Given the description of an element on the screen output the (x, y) to click on. 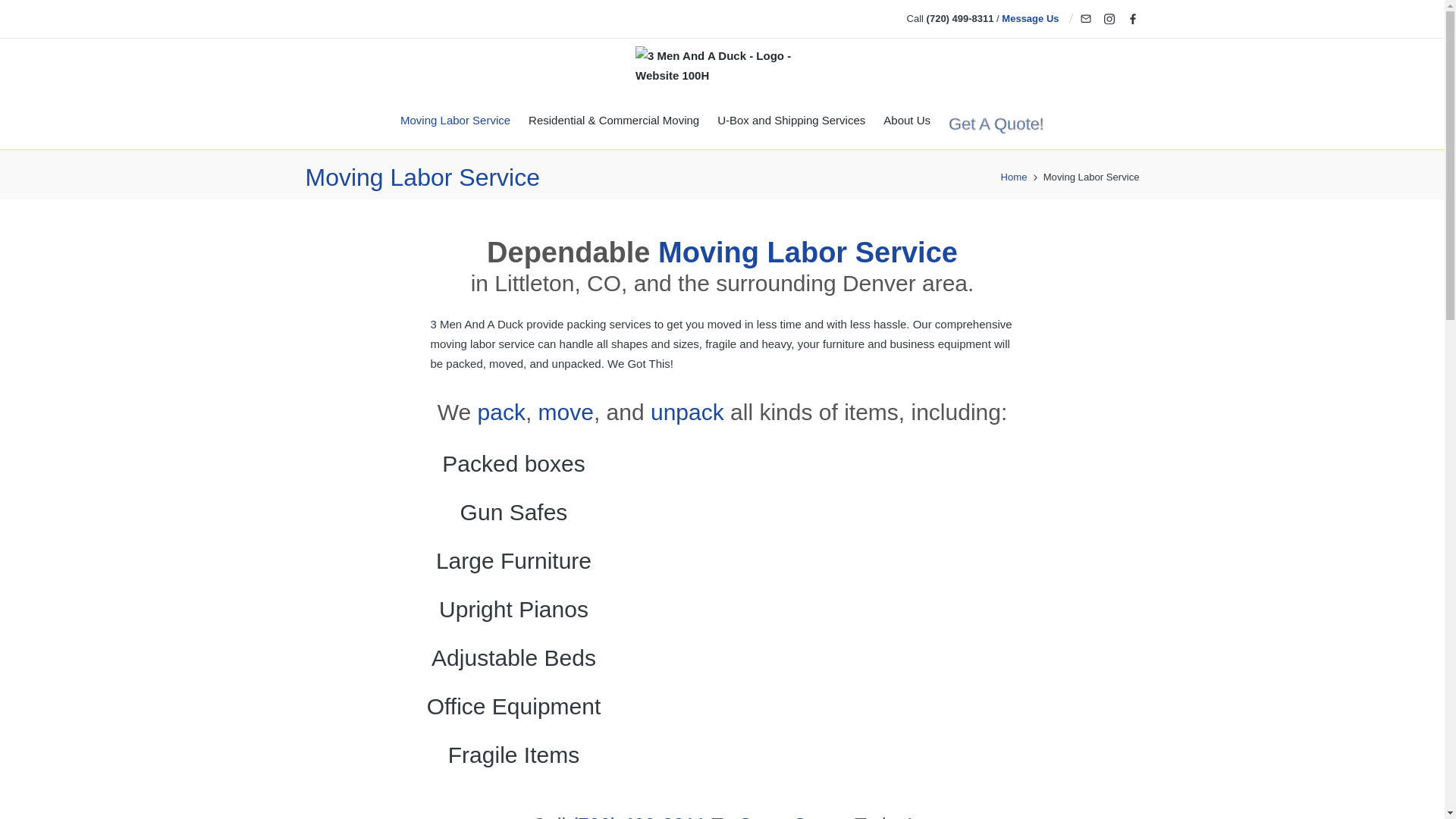
About Us Element type: text (906, 120)
Moving Labor Service Element type: text (455, 120)
labor@3menandaduck.com Element type: text (1085, 18)
instagram Element type: text (1109, 18)
Residential & Commercial Moving Element type: text (613, 120)
Get A Quote! Element type: text (996, 124)
Home Element type: text (1014, 177)
facebook Element type: text (1132, 18)
Message Us Element type: text (1029, 19)
U-Box and Shipping Services Element type: text (791, 120)
